Given the description of an element on the screen output the (x, y) to click on. 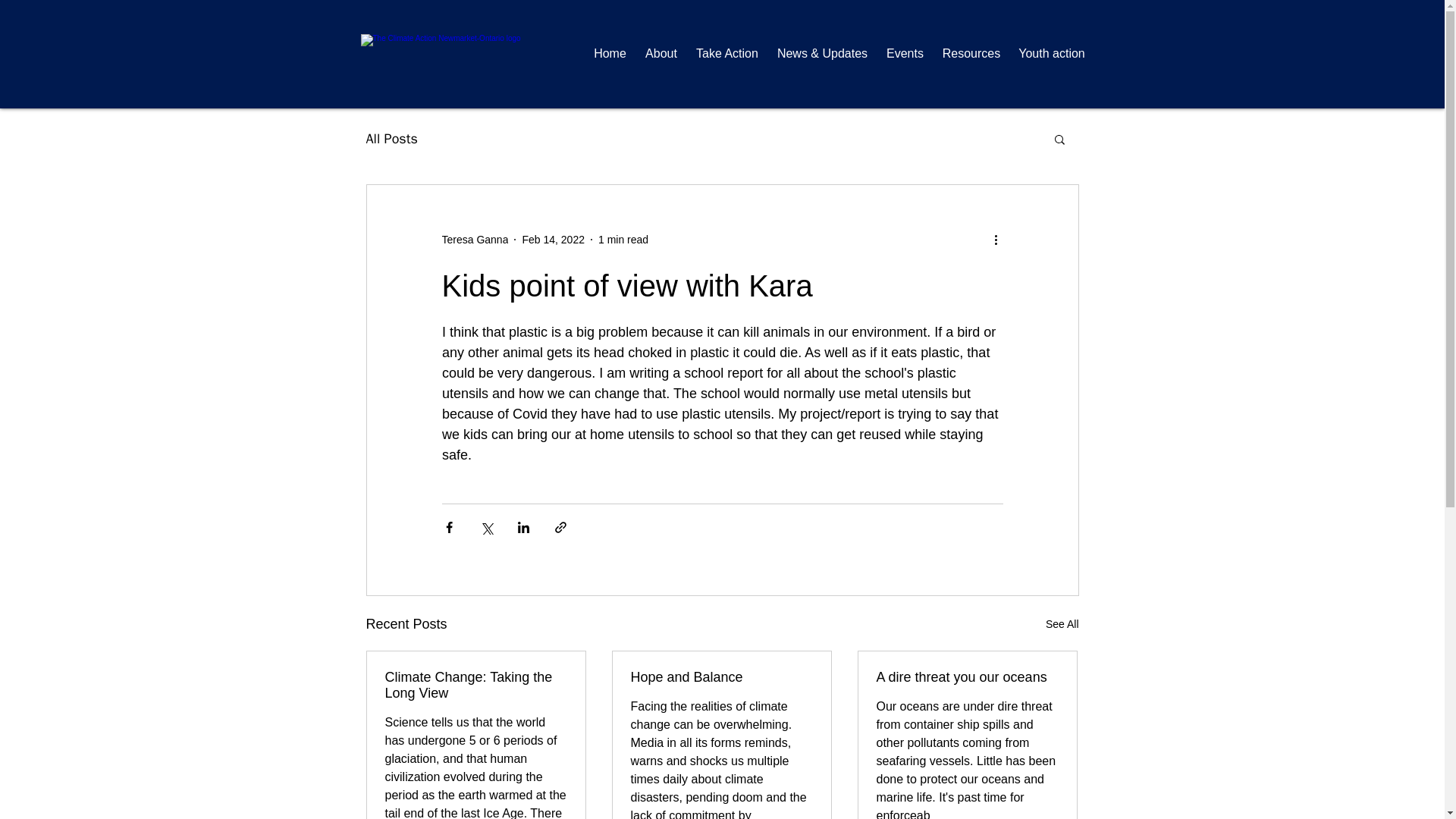
Youth action (1052, 53)
Events (904, 53)
See All (1061, 624)
Resources (971, 53)
Home (608, 53)
Feb 14, 2022 (553, 239)
Teresa Ganna (474, 239)
About (659, 53)
Take Action (727, 53)
Teresa Ganna (474, 239)
All Posts (390, 138)
1 min read (622, 239)
Climate Change: Taking the Long View (476, 685)
A dire threat you our oceans (967, 677)
Hope and Balance (721, 677)
